Given the description of an element on the screen output the (x, y) to click on. 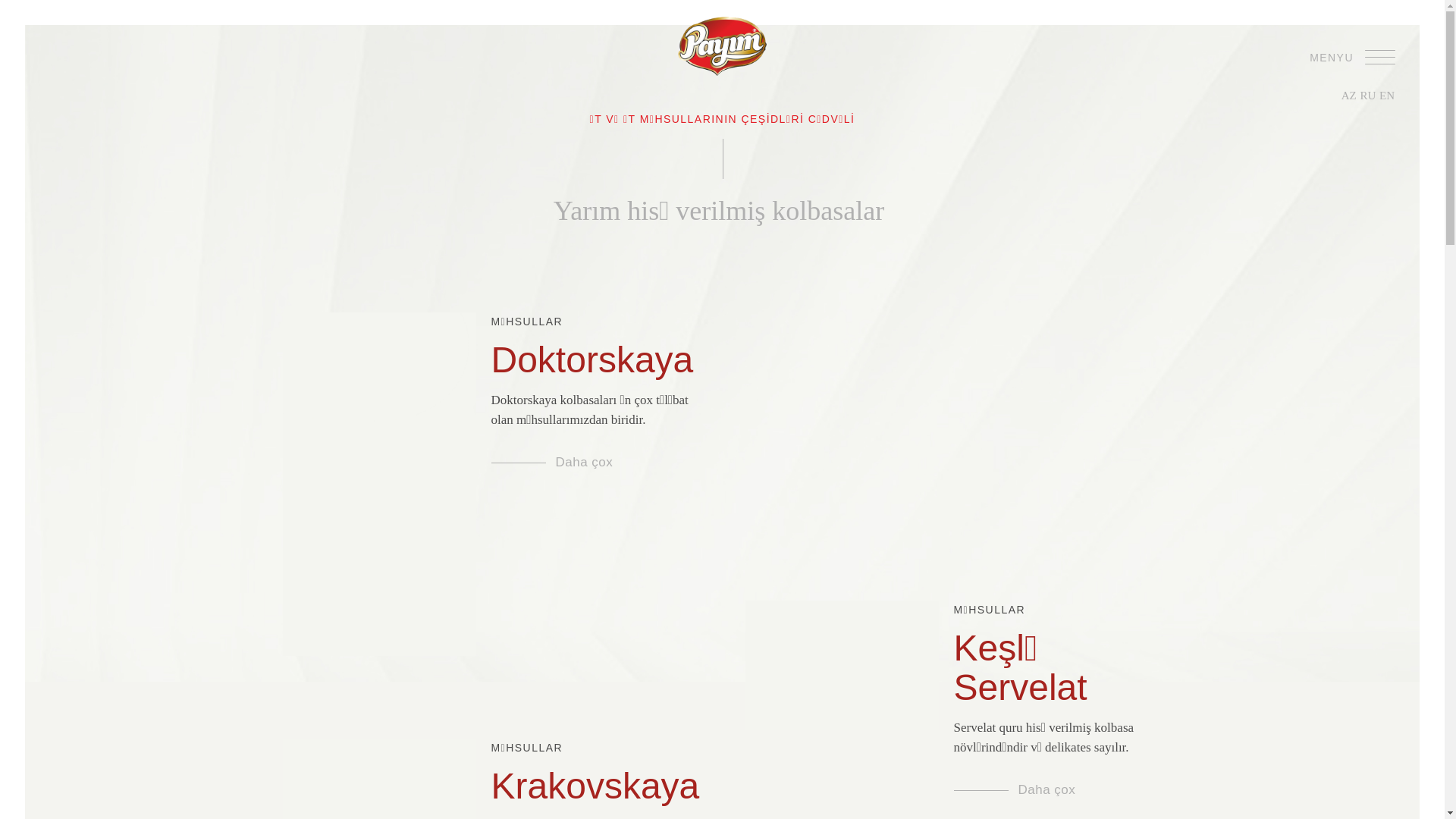
RU Element type: text (1367, 95)
AZ Element type: text (1348, 95)
EN Element type: text (1386, 95)
